Given the description of an element on the screen output the (x, y) to click on. 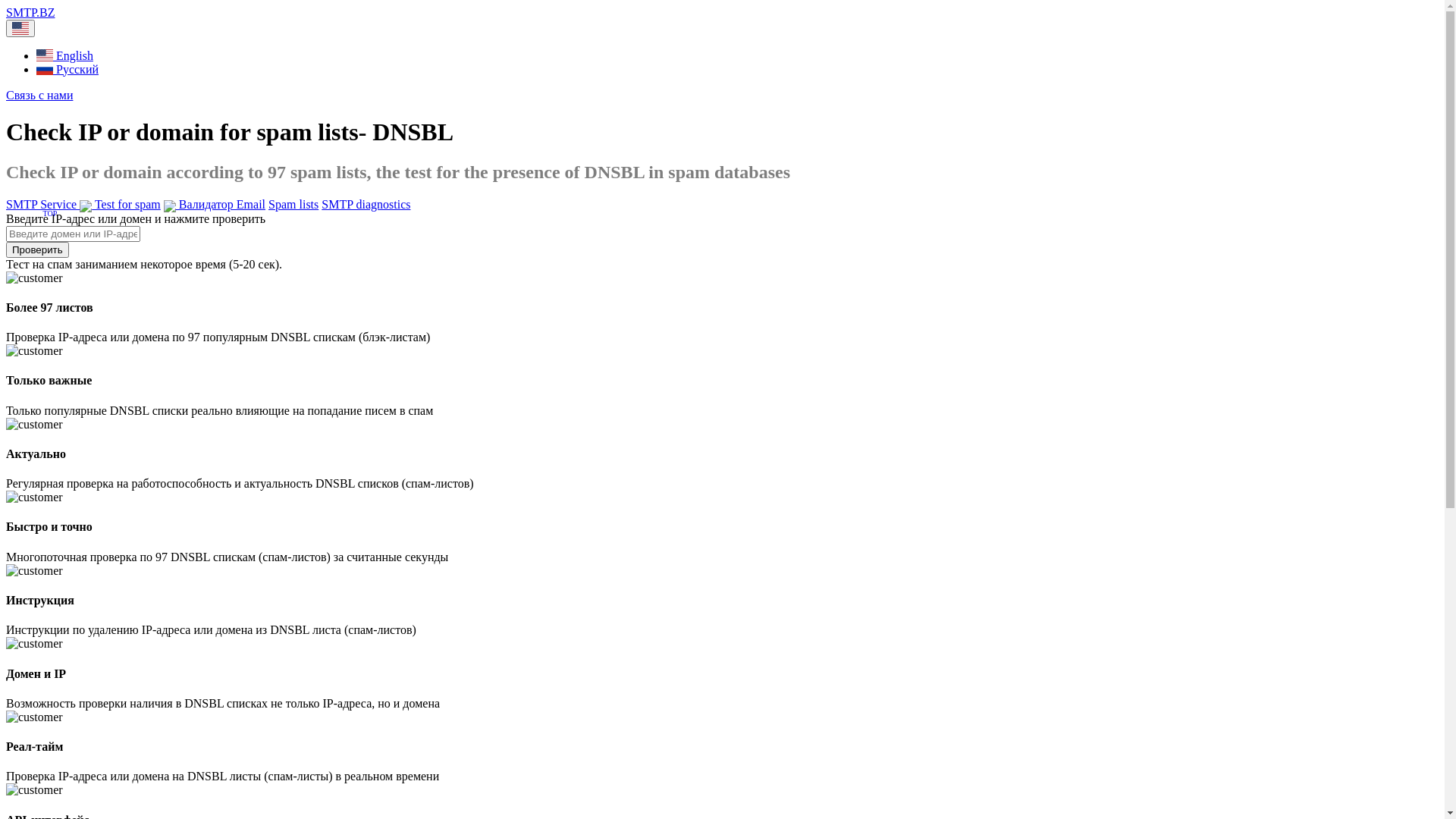
SMTP.BZ Element type: text (30, 12)
English Element type: text (64, 54)
SMTP Service
TOP Element type: text (42, 203)
SMTP diagnostics Element type: text (365, 203)
Spam lists Element type: text (293, 203)
Test for spam Element type: text (119, 203)
